Given the description of an element on the screen output the (x, y) to click on. 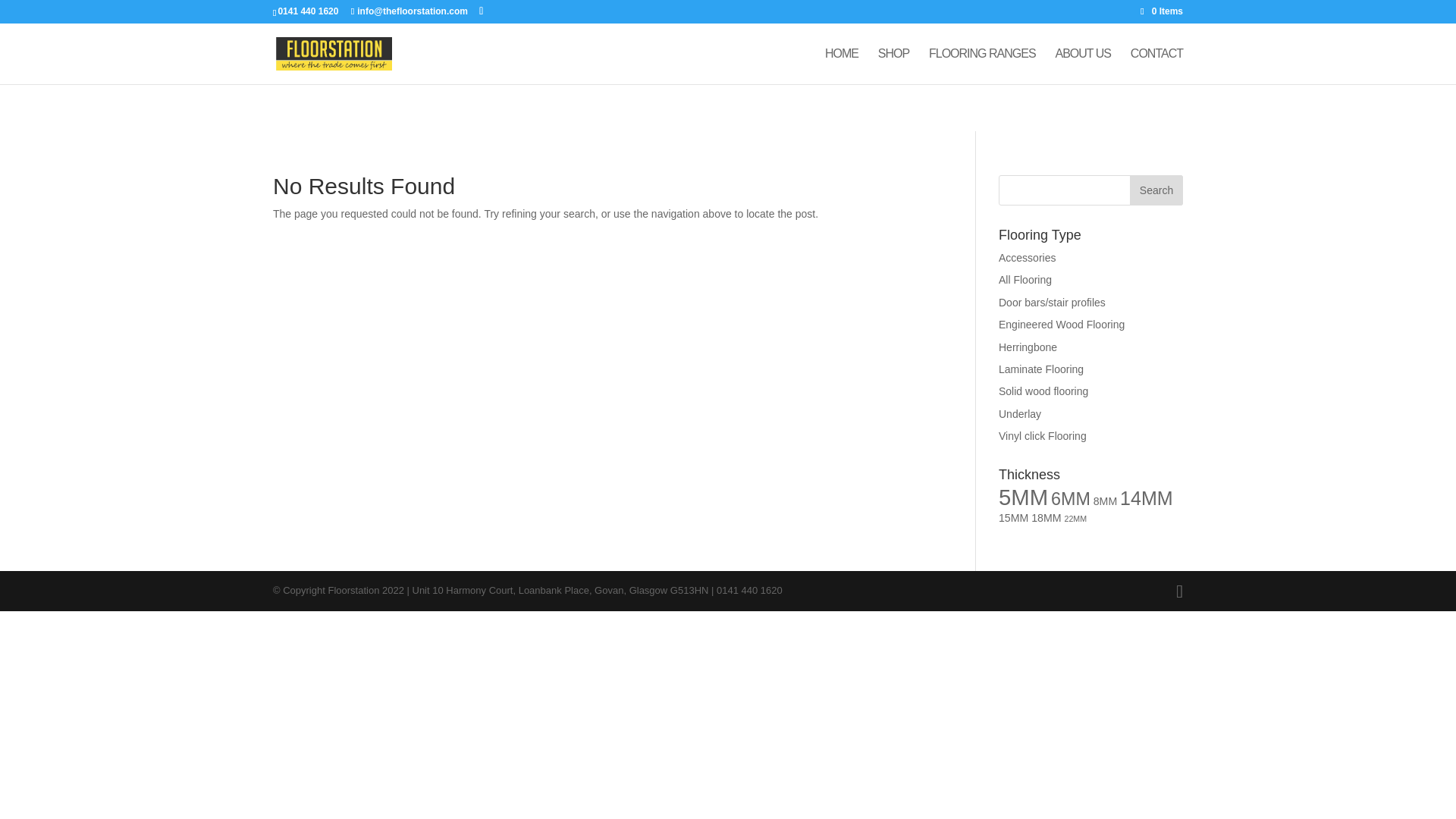
Vinyl click Flooring (1042, 435)
FLOORING RANGES (981, 66)
ABOUT US (1082, 66)
18MM (1045, 517)
CONTACT (1156, 66)
5MM (1023, 496)
14MM (1146, 497)
Underlay (1019, 413)
8MM (1104, 500)
Herringbone (1027, 346)
